Given the description of an element on the screen output the (x, y) to click on. 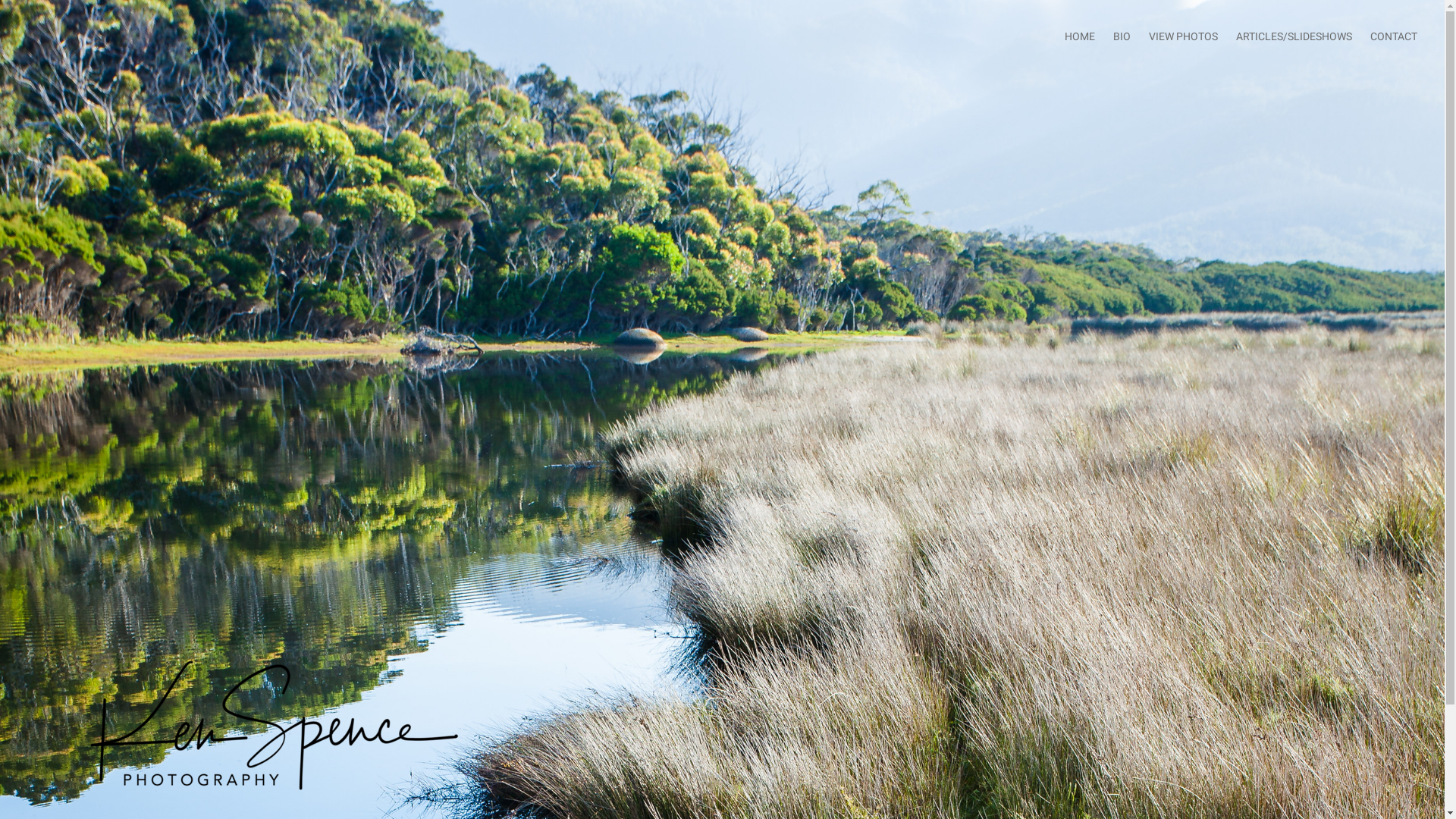
BIO Element type: text (1121, 36)
VIEW PHOTOS Element type: text (1182, 36)
ARTICLES/SLIDESHOWS Element type: text (1294, 36)
CONTACT Element type: text (1393, 36)
HOME Element type: text (1079, 36)
